Given the description of an element on the screen output the (x, y) to click on. 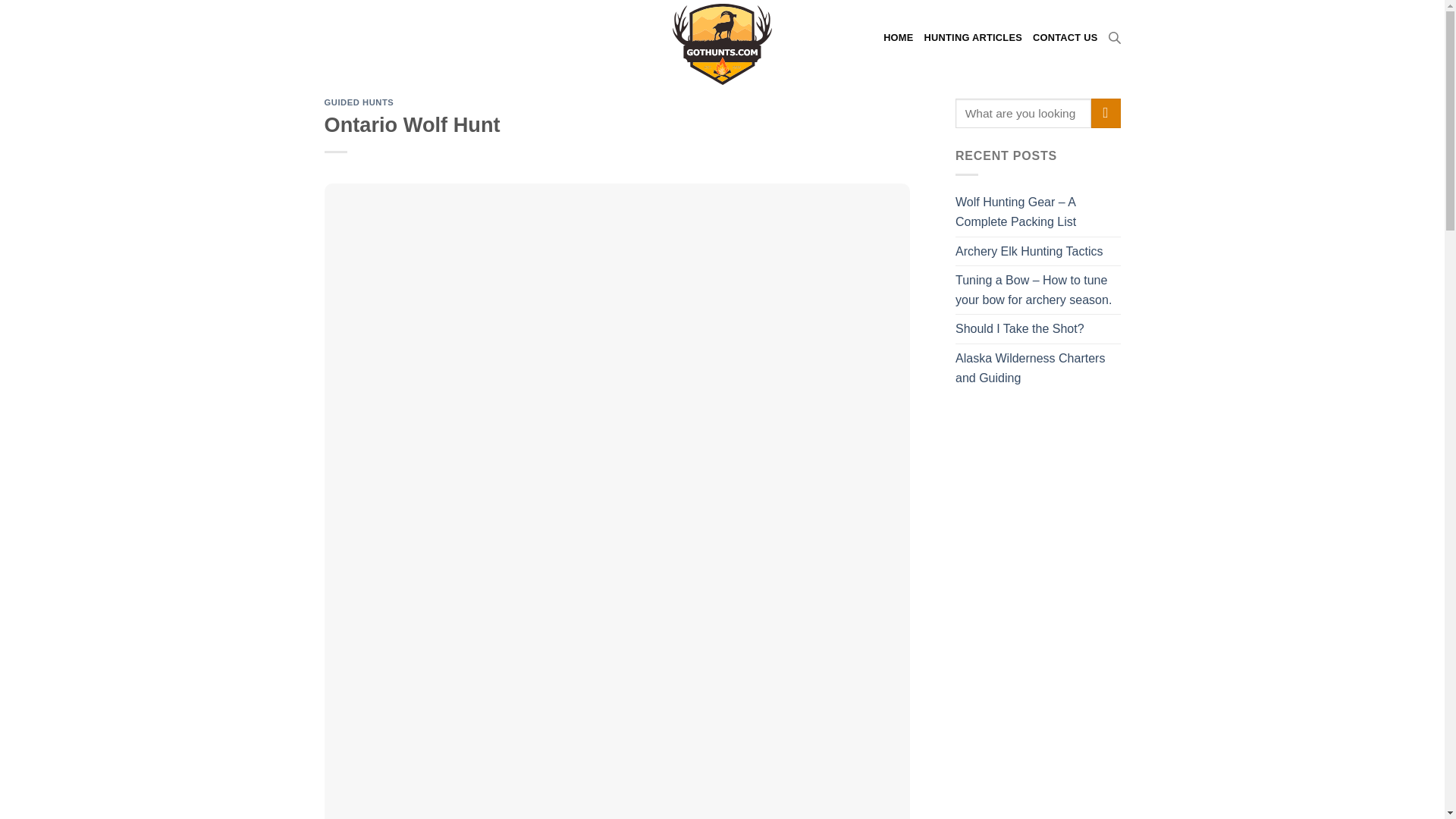
CONTACT US (1064, 37)
HUNTING ARTICLES (973, 37)
HOME (897, 37)
GUIDED HUNTS (359, 102)
